Given the description of an element on the screen output the (x, y) to click on. 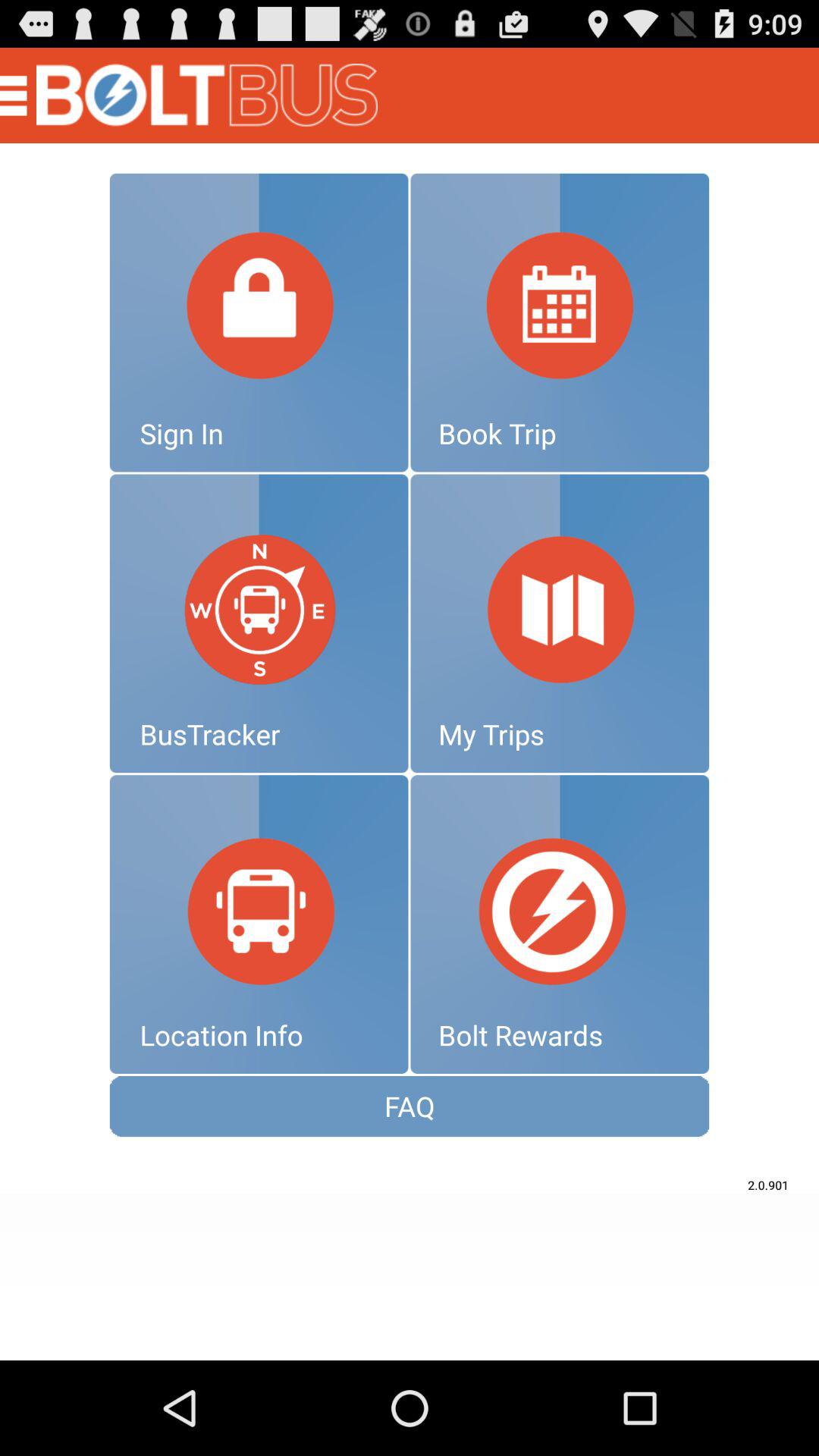
tap faq icon (409, 1106)
